Given the description of an element on the screen output the (x, y) to click on. 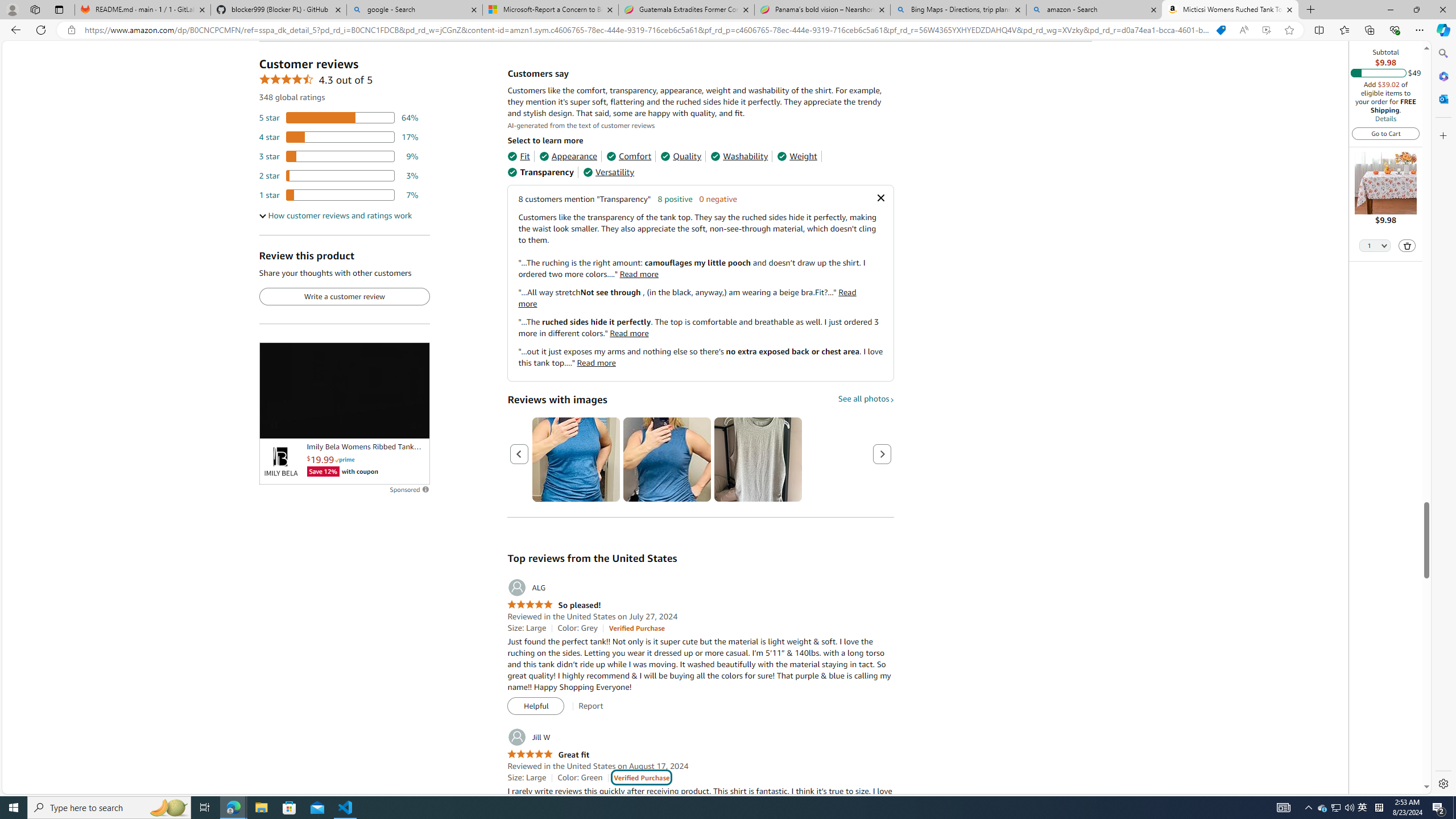
Next page (882, 453)
See all photos (865, 398)
Jill W (528, 736)
Versatility (608, 172)
Previous page (518, 453)
17 percent of reviews have 4 stars (339, 137)
Verified Purchase (640, 777)
